Given the description of an element on the screen output the (x, y) to click on. 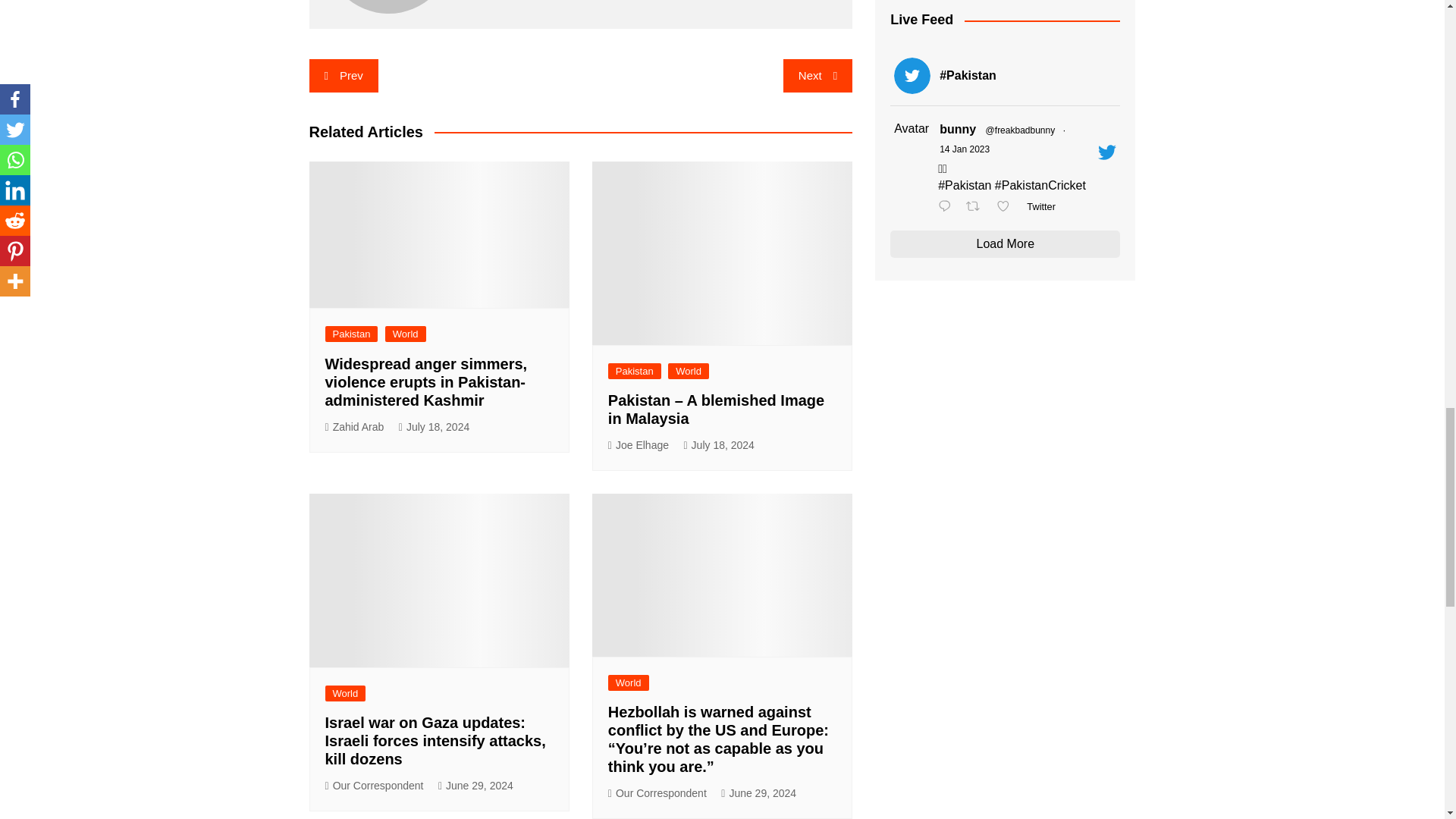
Pakistan (634, 371)
World (405, 333)
Zahid Arab (354, 426)
Pakistan (350, 333)
July 18, 2024 (433, 426)
Prev (343, 75)
Next (817, 75)
World (688, 371)
Joe Elhage (638, 445)
July 18, 2024 (718, 445)
